Given the description of an element on the screen output the (x, y) to click on. 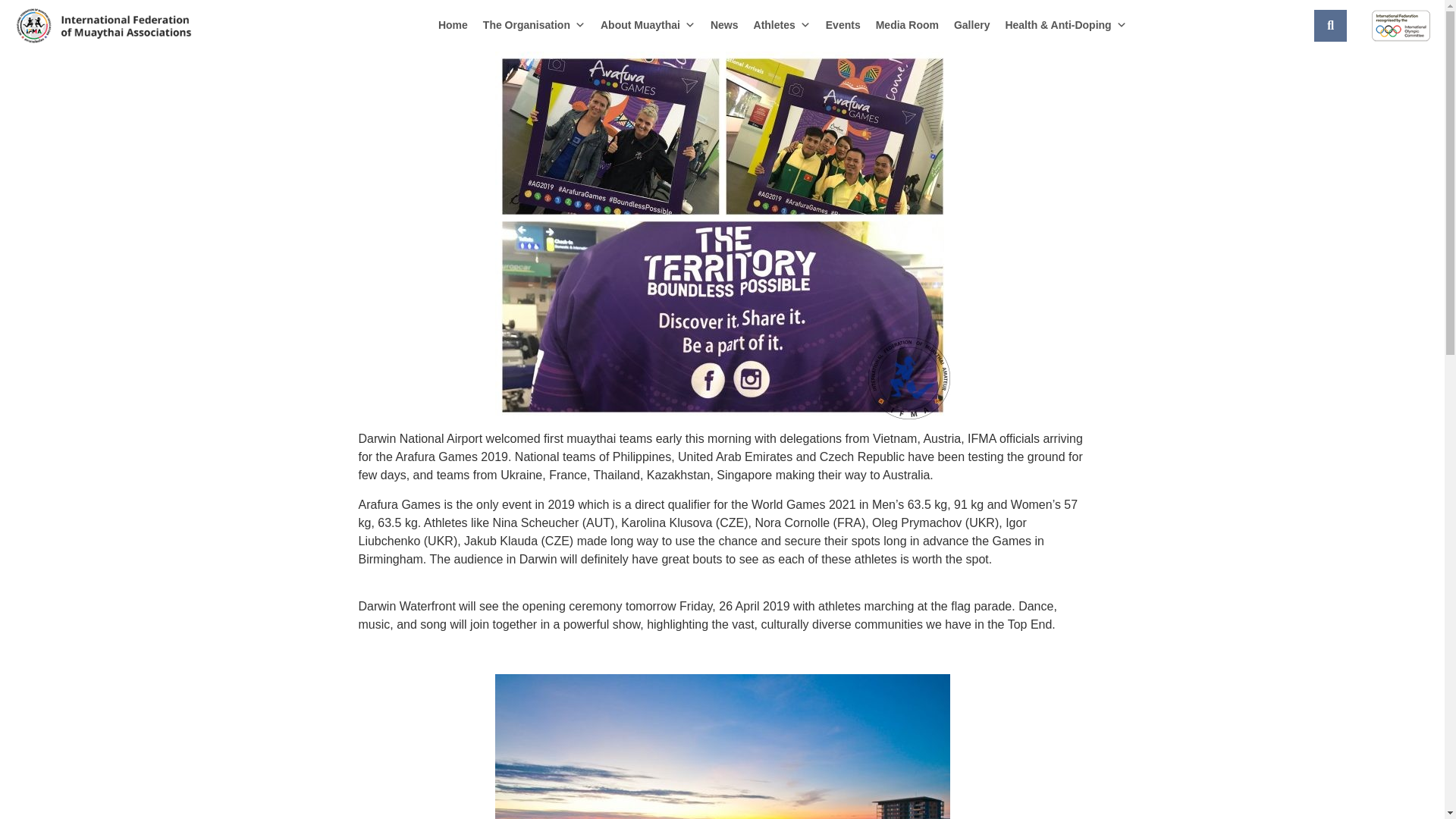
Athletes (781, 24)
Home (453, 24)
The Organisation (534, 24)
News (724, 24)
About Muaythai (647, 24)
